Given the description of an element on the screen output the (x, y) to click on. 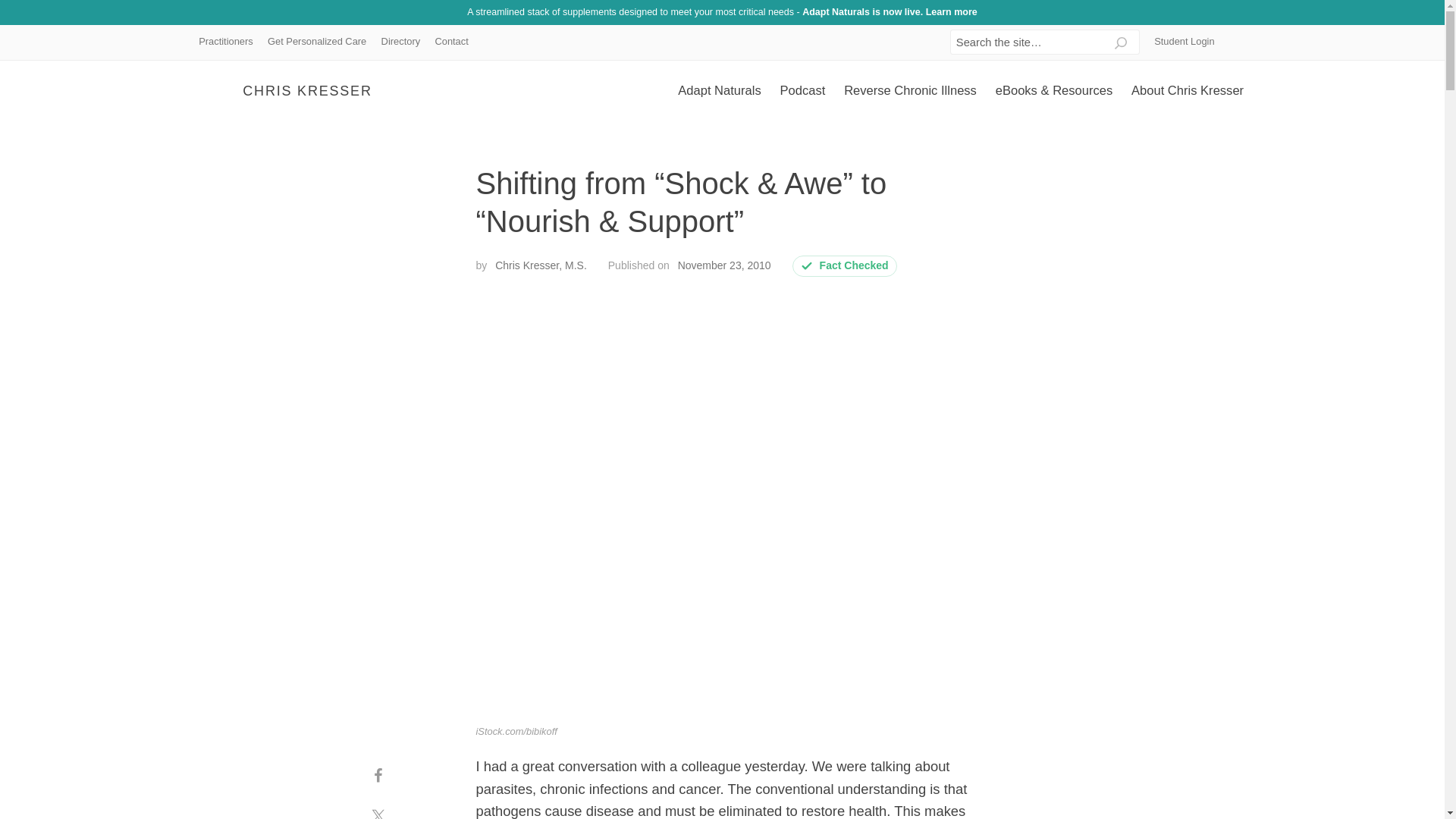
CHRIS KRESSER (289, 91)
Chris Kresser, M.S. (540, 265)
Fact Checked (845, 266)
Contact (452, 42)
Student Login (1184, 42)
Share on Twitter (377, 807)
Adapt Naturals (719, 91)
Podcast (802, 91)
Practitioners (225, 42)
Share on Facebook (377, 775)
